Given the description of an element on the screen output the (x, y) to click on. 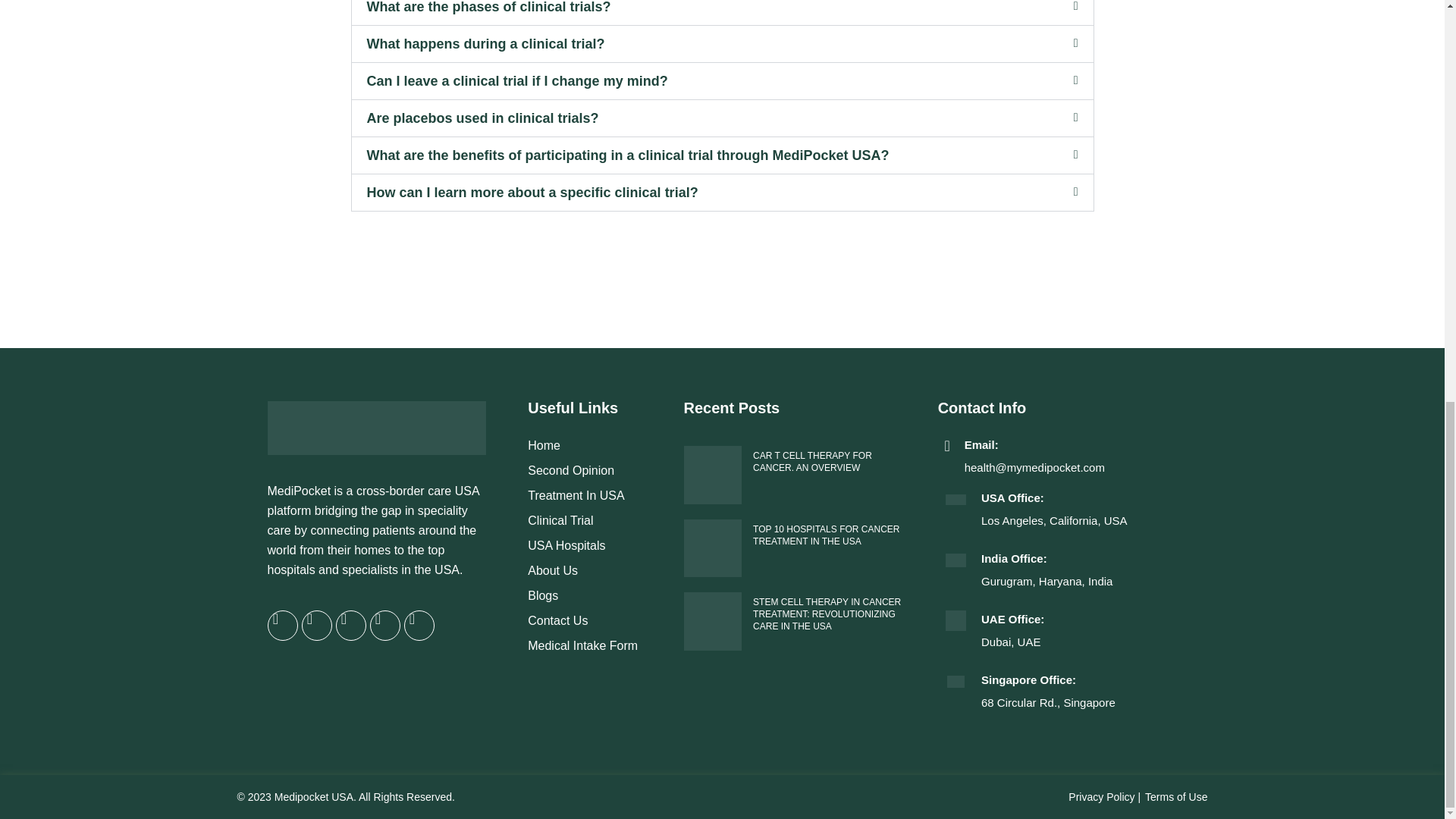
Can I leave a clinical trial if I change my mind? (517, 80)
What are the phases of clinical trials? (488, 7)
What happens during a clinical trial? (485, 43)
Are placebos used in clinical trials? (482, 118)
Home (597, 445)
Second Opinion (597, 470)
How can I learn more about a specific clinical trial? (532, 192)
